Given the description of an element on the screen output the (x, y) to click on. 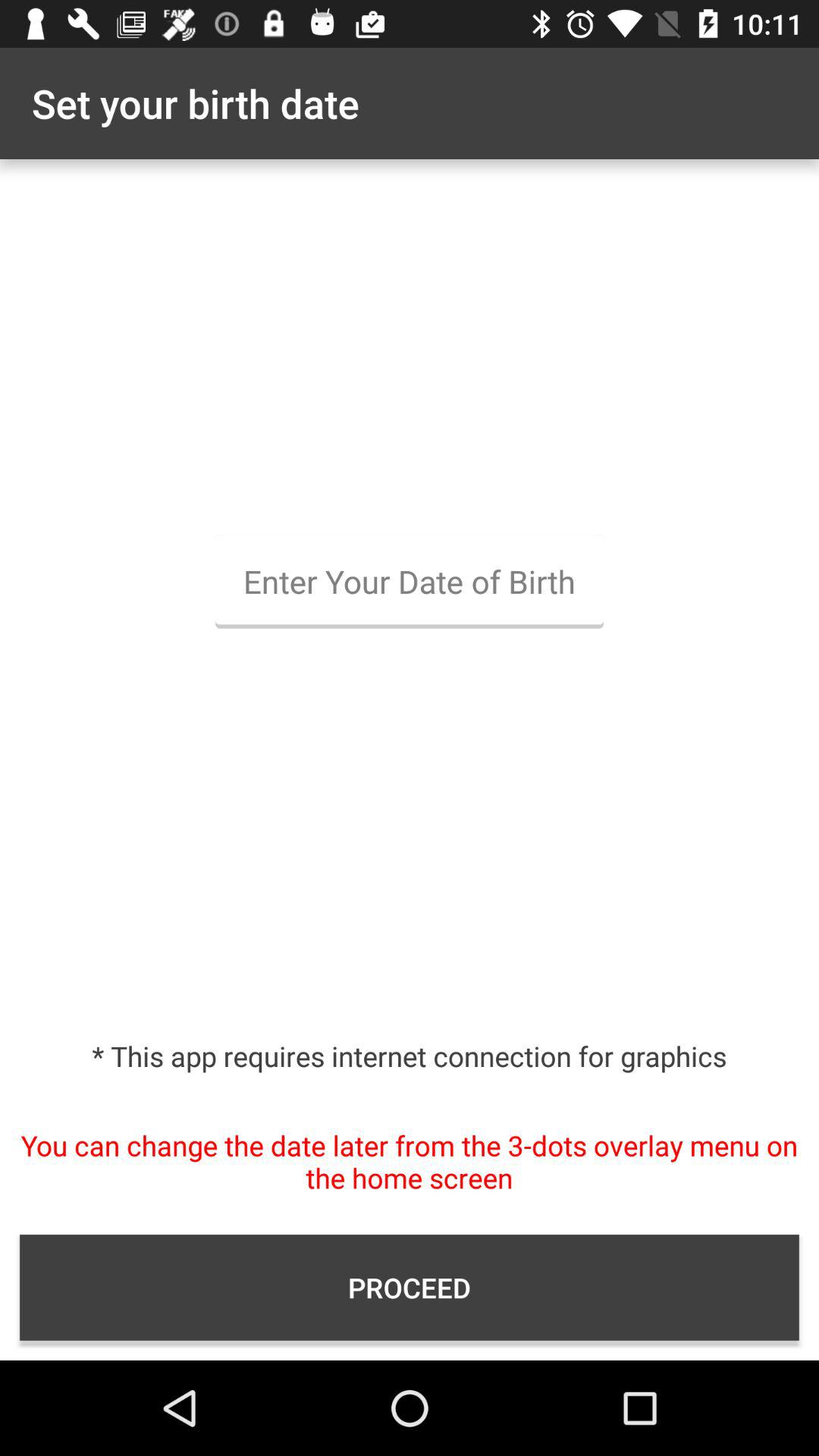
jump to proceed (409, 1287)
